Given the description of an element on the screen output the (x, y) to click on. 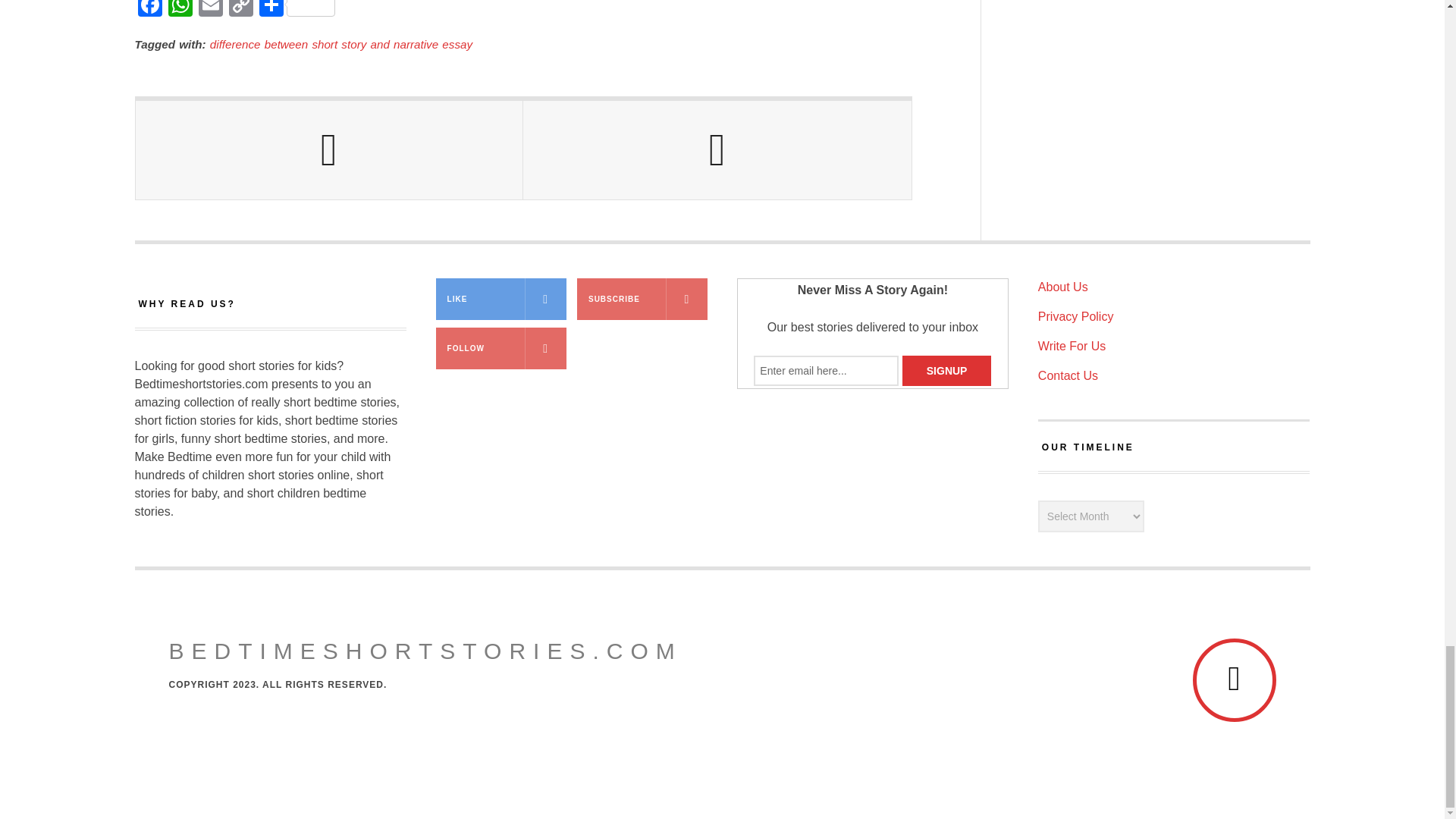
Email (210, 10)
Previous Post (328, 149)
Enter email here... (826, 370)
Next Post (716, 149)
WhatsApp (180, 10)
Facebook (150, 10)
Signup (946, 370)
Copy Link (240, 10)
